Given the description of an element on the screen output the (x, y) to click on. 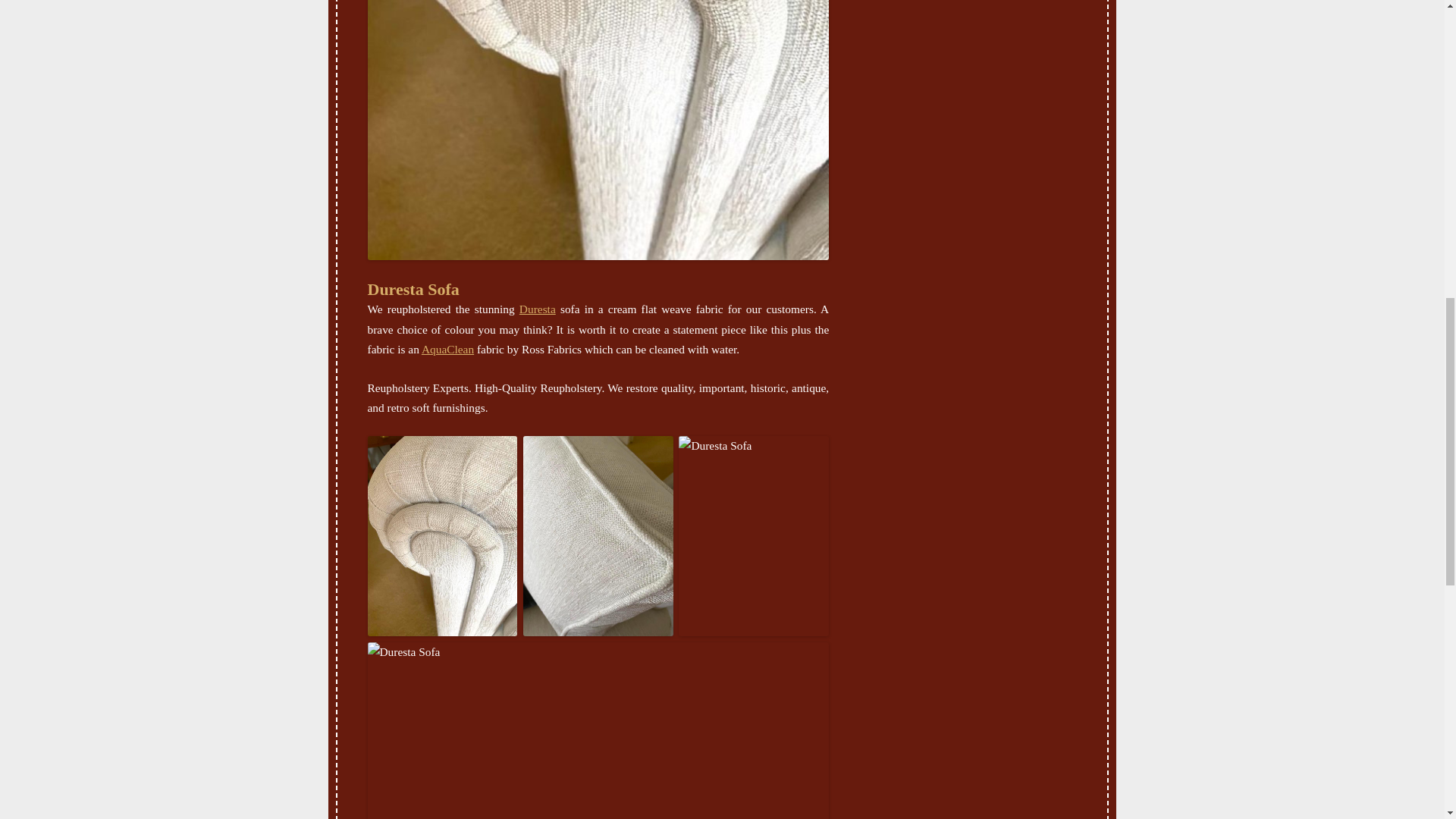
Duresta Sofa (412, 289)
AquaClean (448, 349)
Duresta (537, 308)
